Given the description of an element on the screen output the (x, y) to click on. 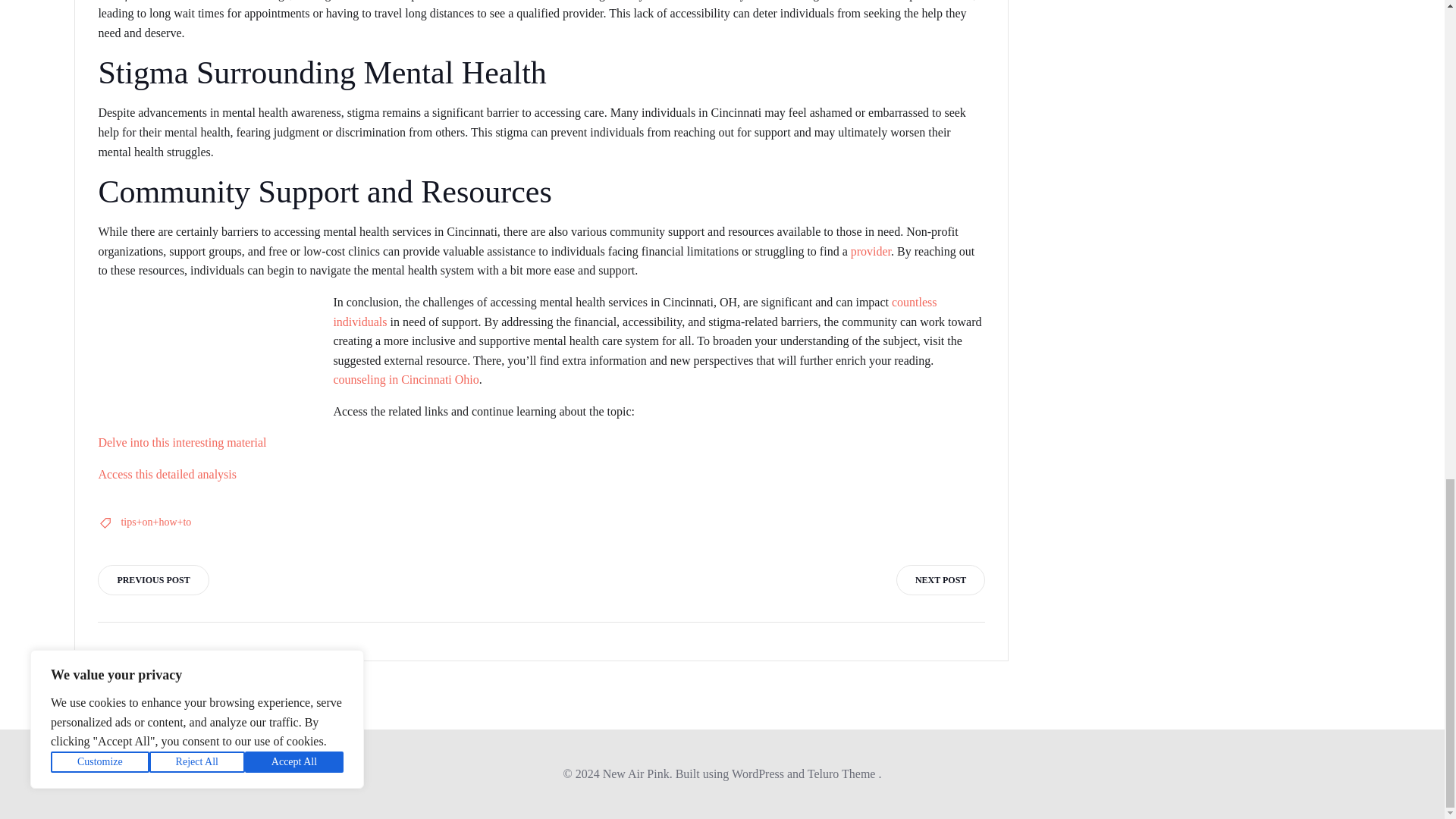
Access this detailed analysis (166, 473)
countless individuals (634, 311)
provider (870, 250)
NEXT POST (940, 580)
Delve into this interesting material (181, 441)
PREVIOUS POST (152, 580)
counseling in Cincinnati Ohio (406, 379)
